Given the description of an element on the screen output the (x, y) to click on. 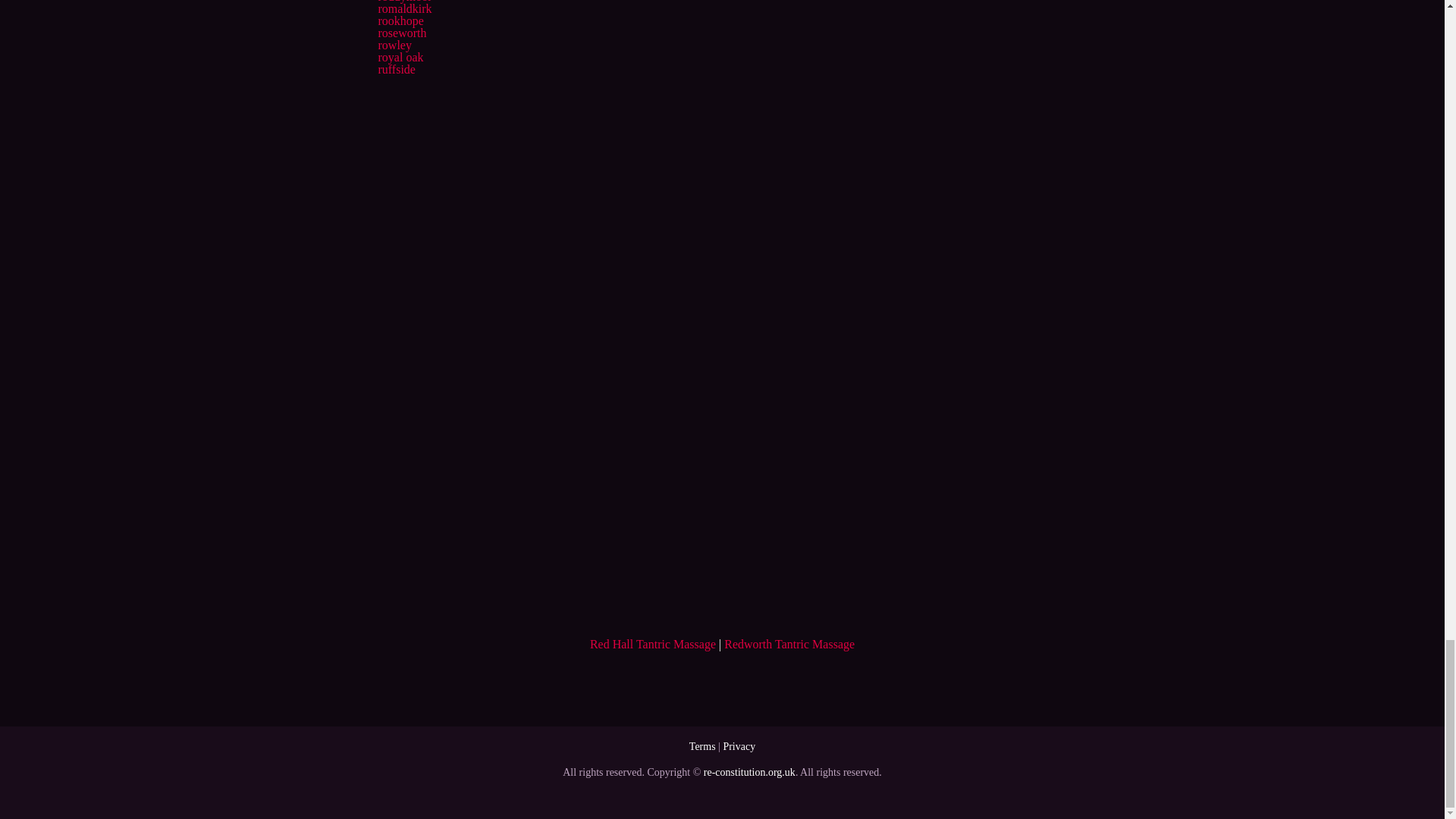
rowley (393, 44)
ruffside (395, 69)
Privacy (738, 746)
Redworth Tantric Massage (788, 644)
royal oak (400, 56)
romaldkirk (403, 8)
re-constitution.org.uk (748, 772)
roseworth (401, 32)
Red Hall Tantric Massage (652, 644)
Privacy (738, 746)
Terms (702, 746)
roddymoor (403, 1)
rookhope (400, 20)
Terms (702, 746)
